Given the description of an element on the screen output the (x, y) to click on. 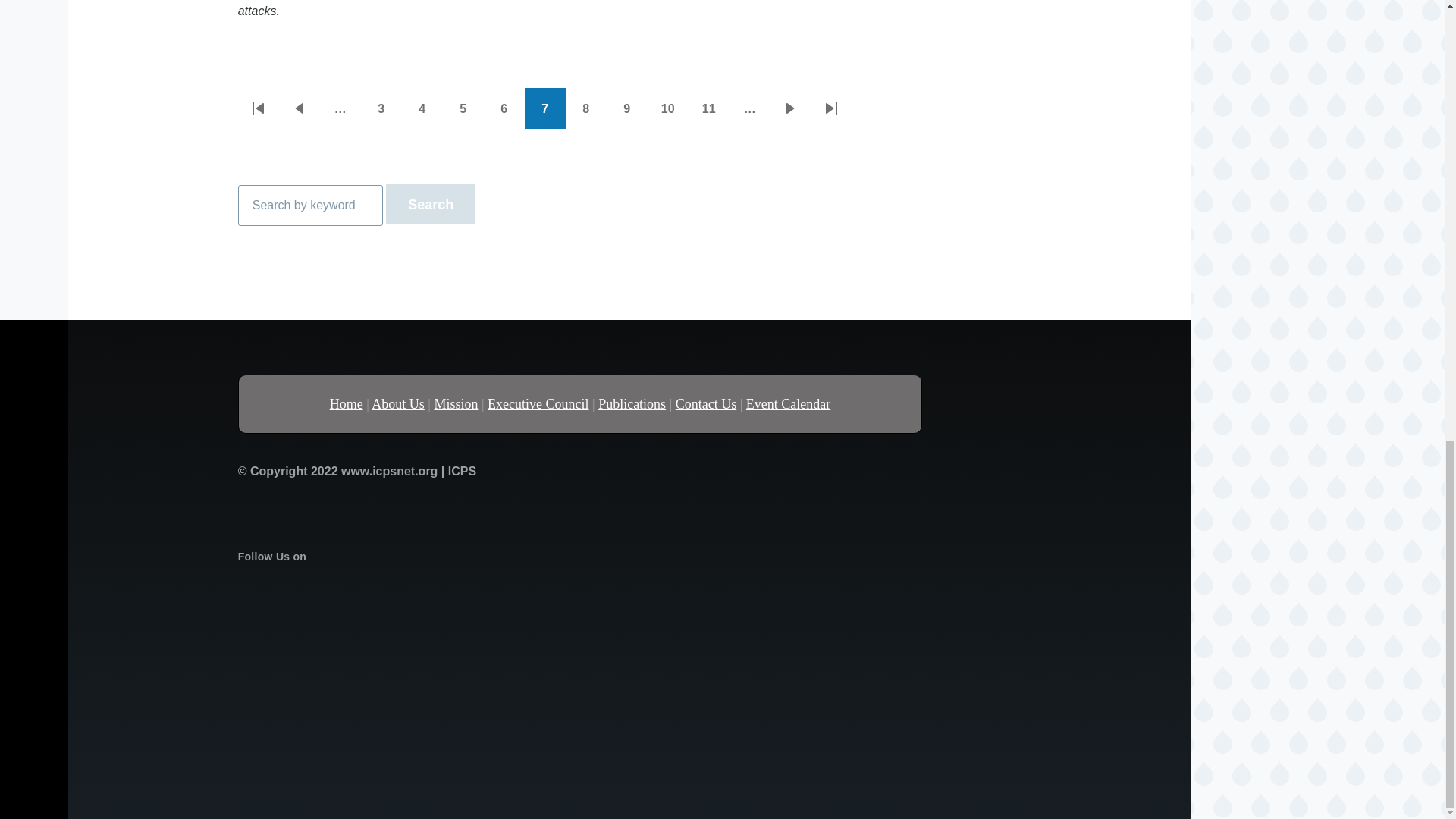
Go to page 10 (667, 107)
Go to next page (503, 107)
Go to page 8 (790, 107)
Previous page (586, 107)
Go to page 4 (299, 107)
Search (462, 107)
Enter the terms you wish to search for. (421, 107)
First page (430, 203)
Go to page 9 (310, 205)
Go to previous page (586, 107)
Go to page 3 (258, 107)
Go to page 5 (627, 107)
